Given the description of an element on the screen output the (x, y) to click on. 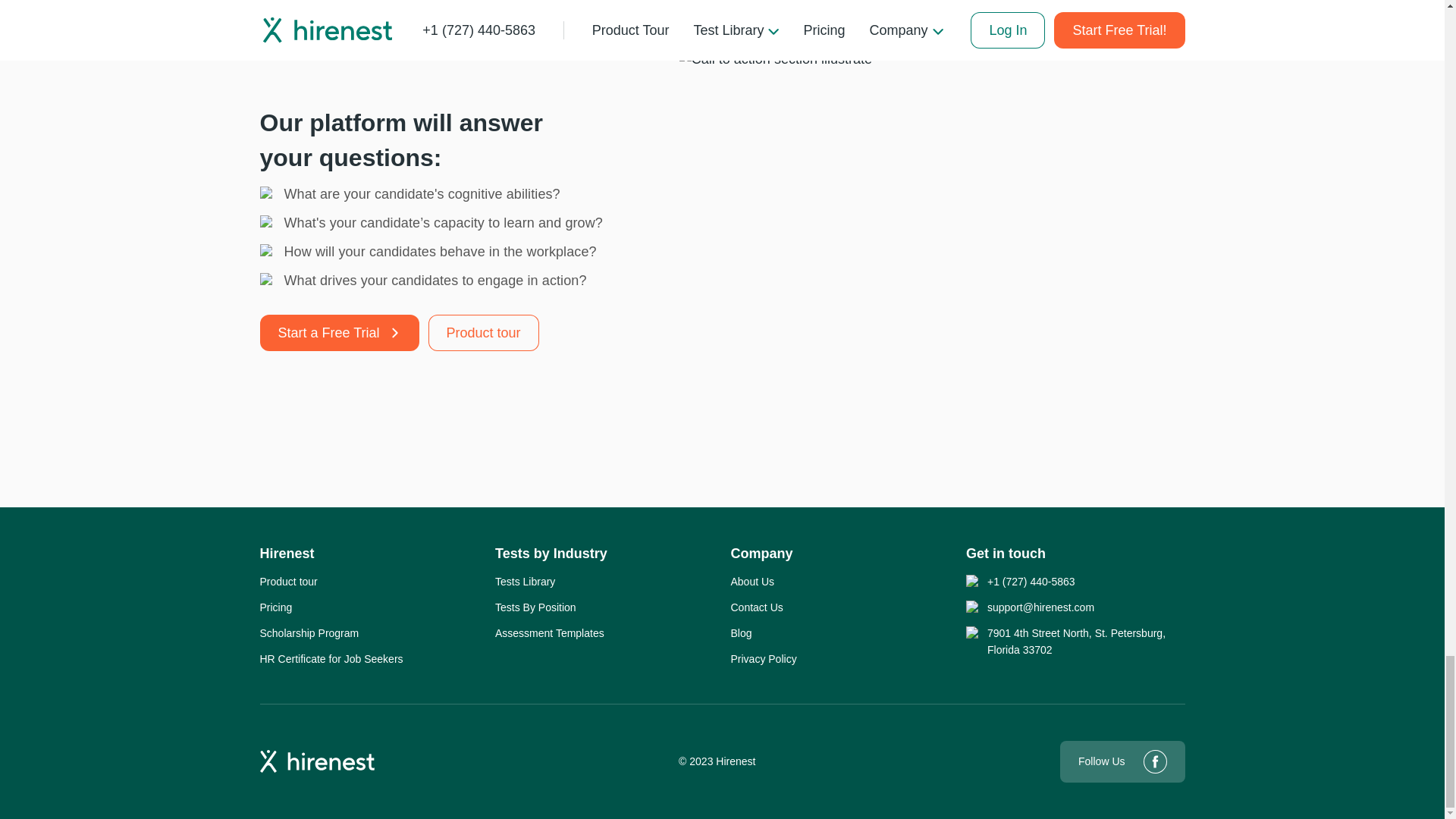
Product tour (483, 332)
Contact Us (756, 606)
Tests by Industry (551, 553)
About Us (752, 581)
Tests By Position (535, 606)
Assessment Templates (549, 632)
Scholarship Program (308, 632)
Pricing (275, 606)
Hirenest (286, 553)
Start a Free Trial (339, 332)
